Given the description of an element on the screen output the (x, y) to click on. 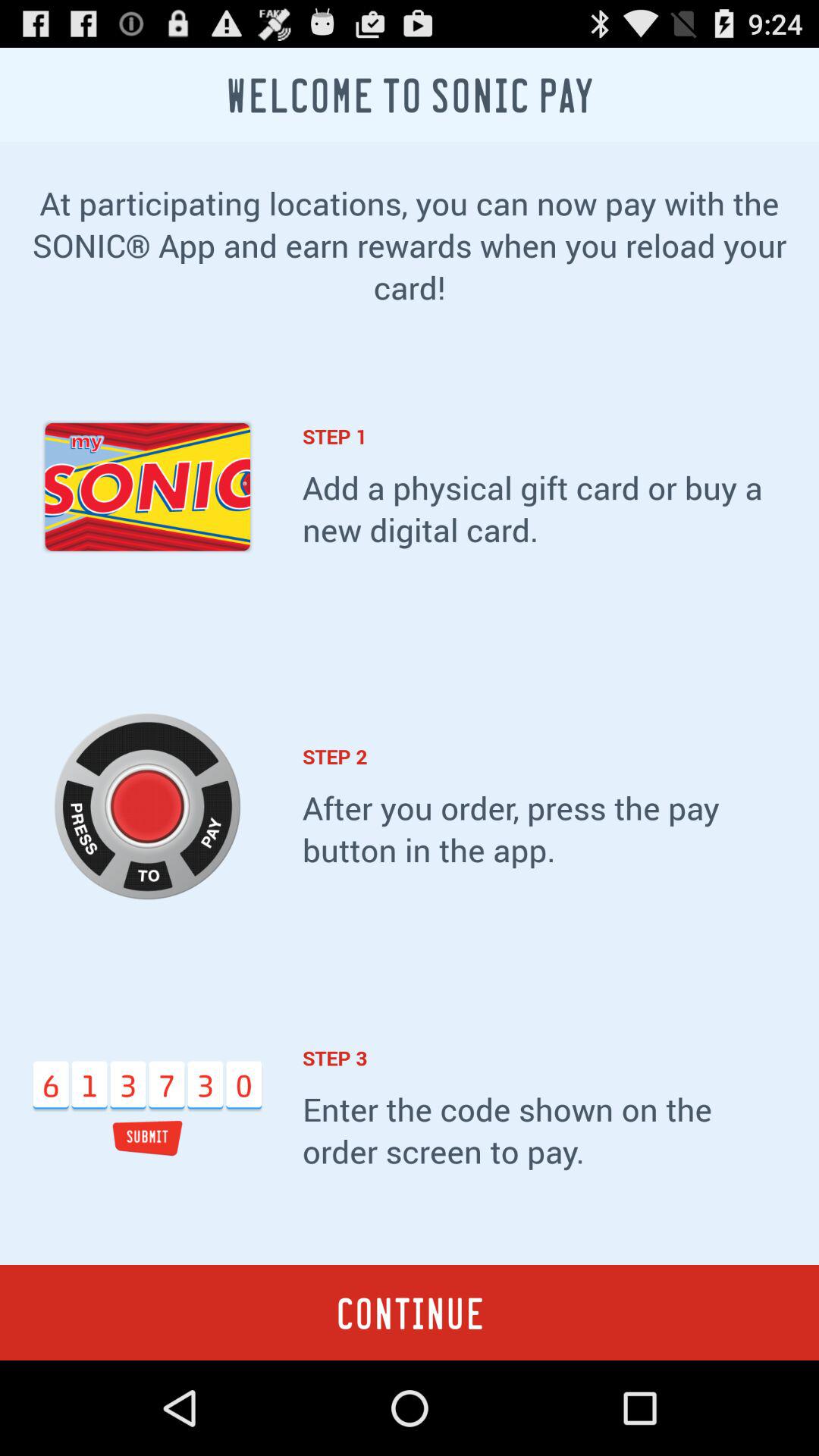
select app below the enter the code (409, 1312)
